Given the description of an element on the screen output the (x, y) to click on. 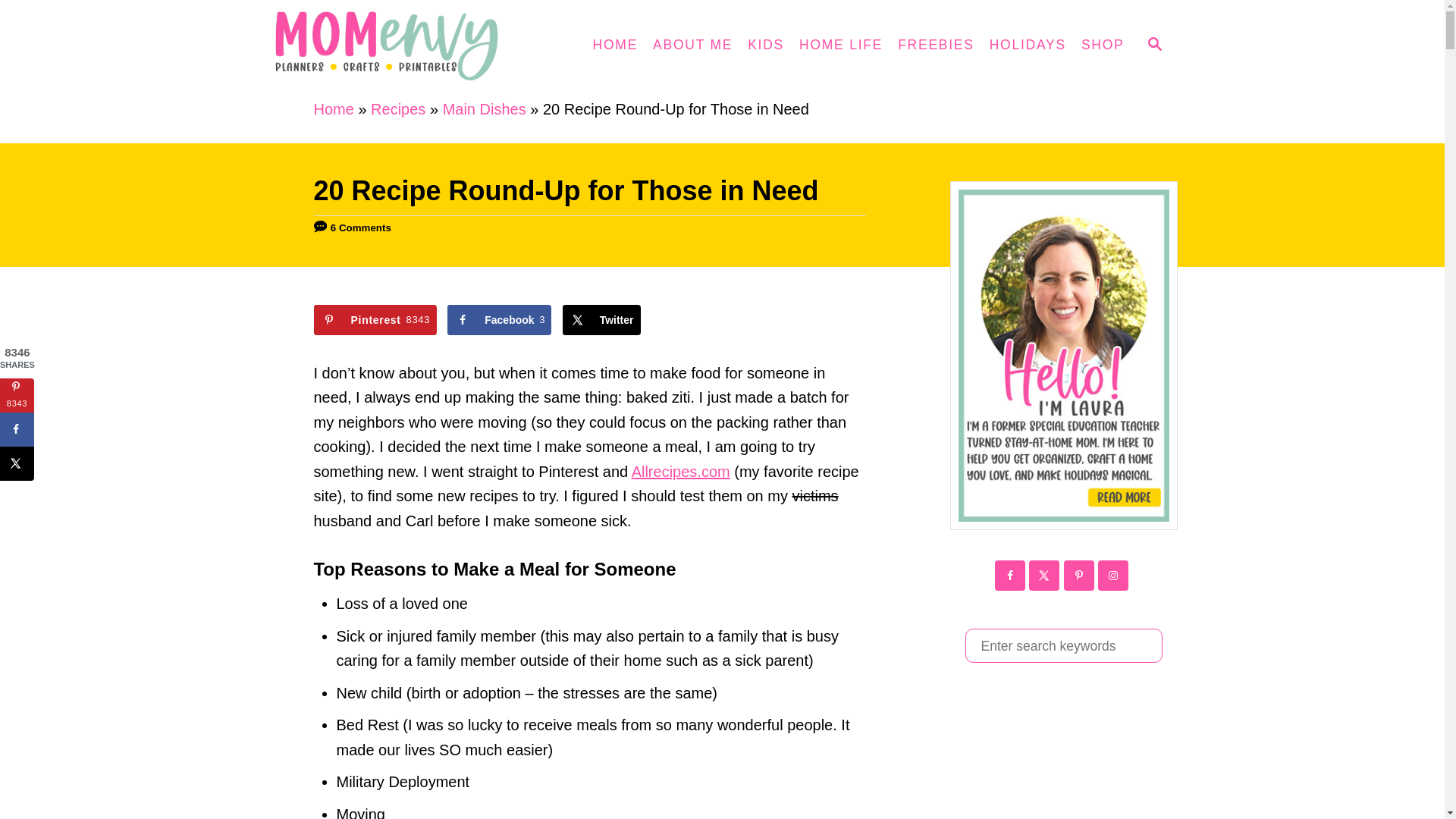
HOME LIFE (840, 45)
Search for: (1062, 645)
Share on X (601, 319)
Follow on Instagram (1112, 575)
ABOUT ME (692, 45)
Save to Pinterest (375, 319)
SEARCH (1153, 45)
Follow on Facebook (1009, 575)
FREEBIES (935, 45)
Follow on X (1044, 575)
Mom Envy (403, 45)
Share on Facebook (498, 319)
KIDS (765, 45)
Follow on Pinterest (1077, 575)
HOME (615, 45)
